Given the description of an element on the screen output the (x, y) to click on. 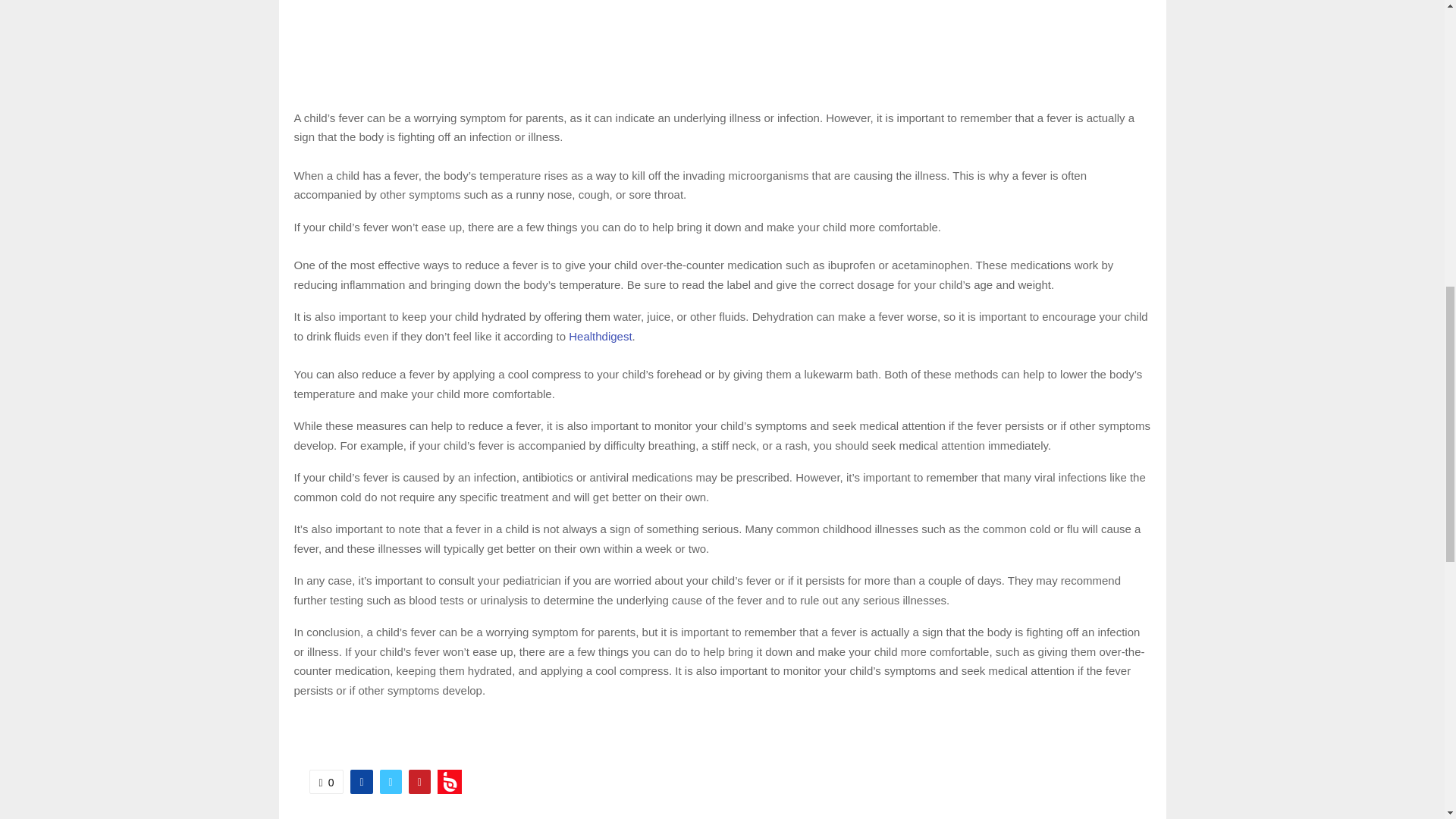
Healthdigest (600, 336)
Like (325, 781)
0 (325, 781)
Advertisement (722, 46)
